Given the description of an element on the screen output the (x, y) to click on. 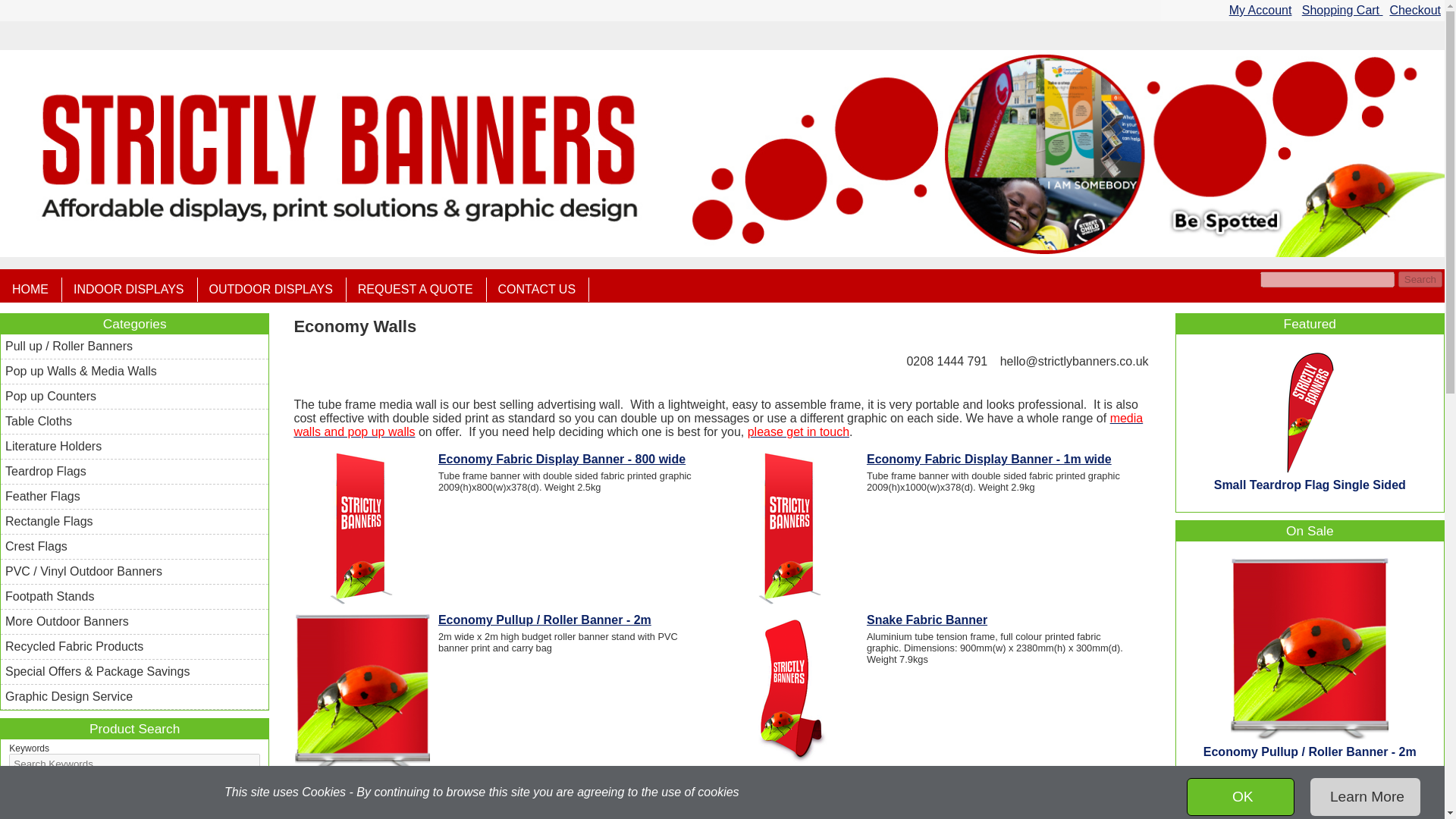
Search (1419, 279)
Feather Flags (134, 496)
INDOOR DISPLAYS (130, 289)
My Account (1260, 10)
Table Cloths (134, 421)
Checkout (1415, 10)
Shopping Cart (1342, 10)
Literature Holders (134, 446)
HOME (31, 289)
Search (1419, 279)
